Given the description of an element on the screen output the (x, y) to click on. 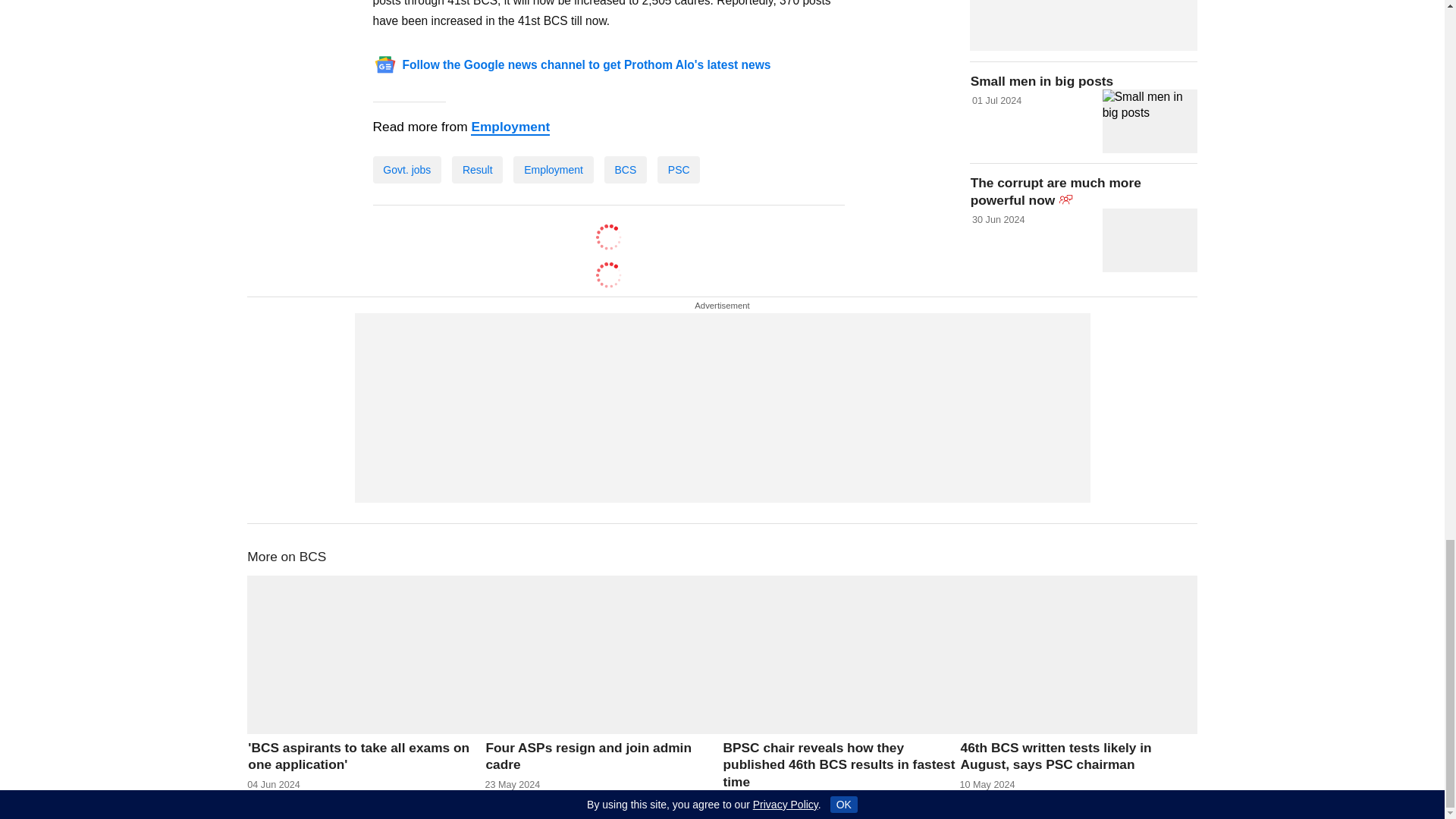
Employment (553, 169)
Result (476, 169)
Employment (510, 126)
Govt. jobs (407, 169)
